Given the description of an element on the screen output the (x, y) to click on. 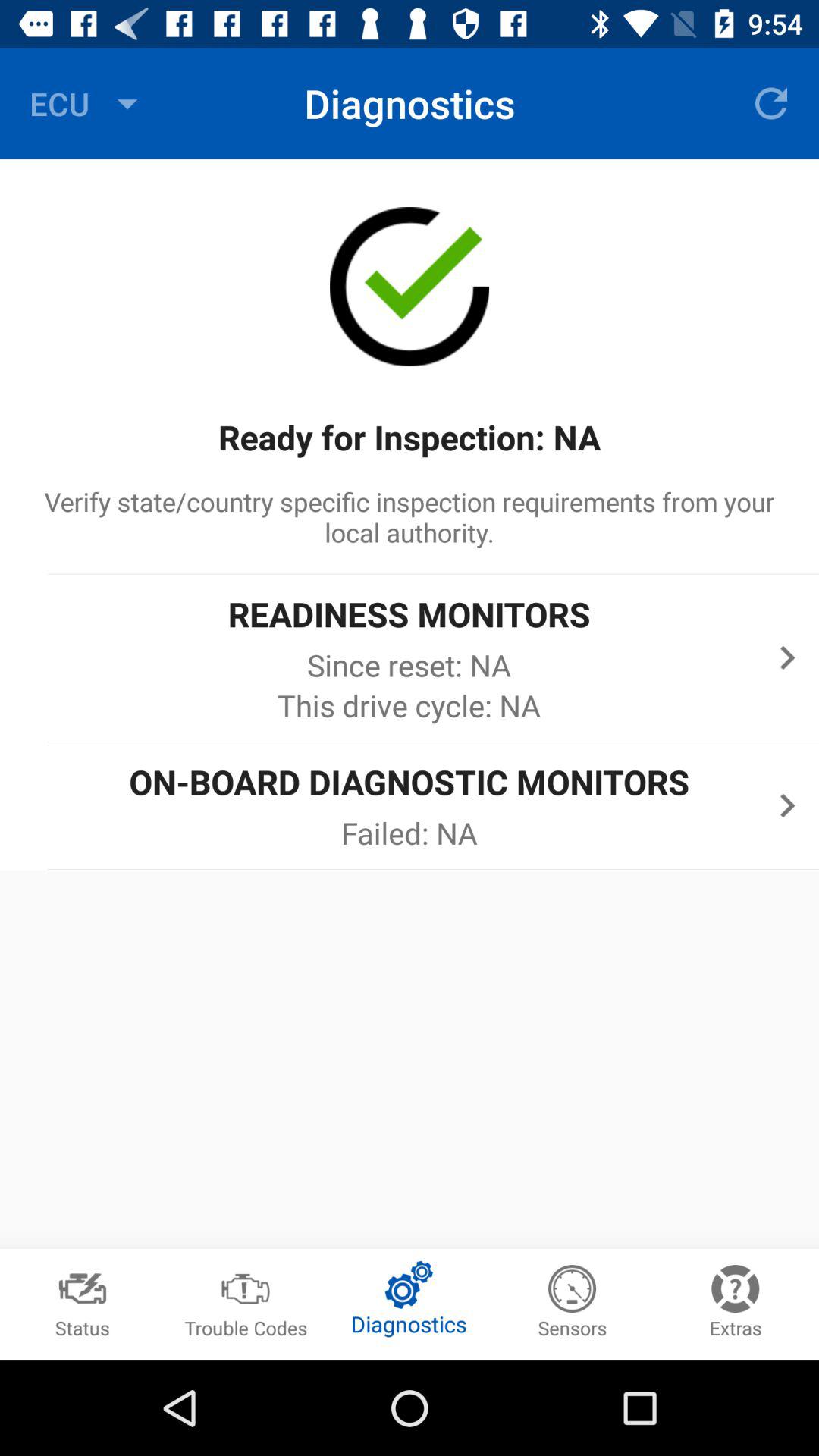
scroll to the ecu icon (87, 103)
